Given the description of an element on the screen output the (x, y) to click on. 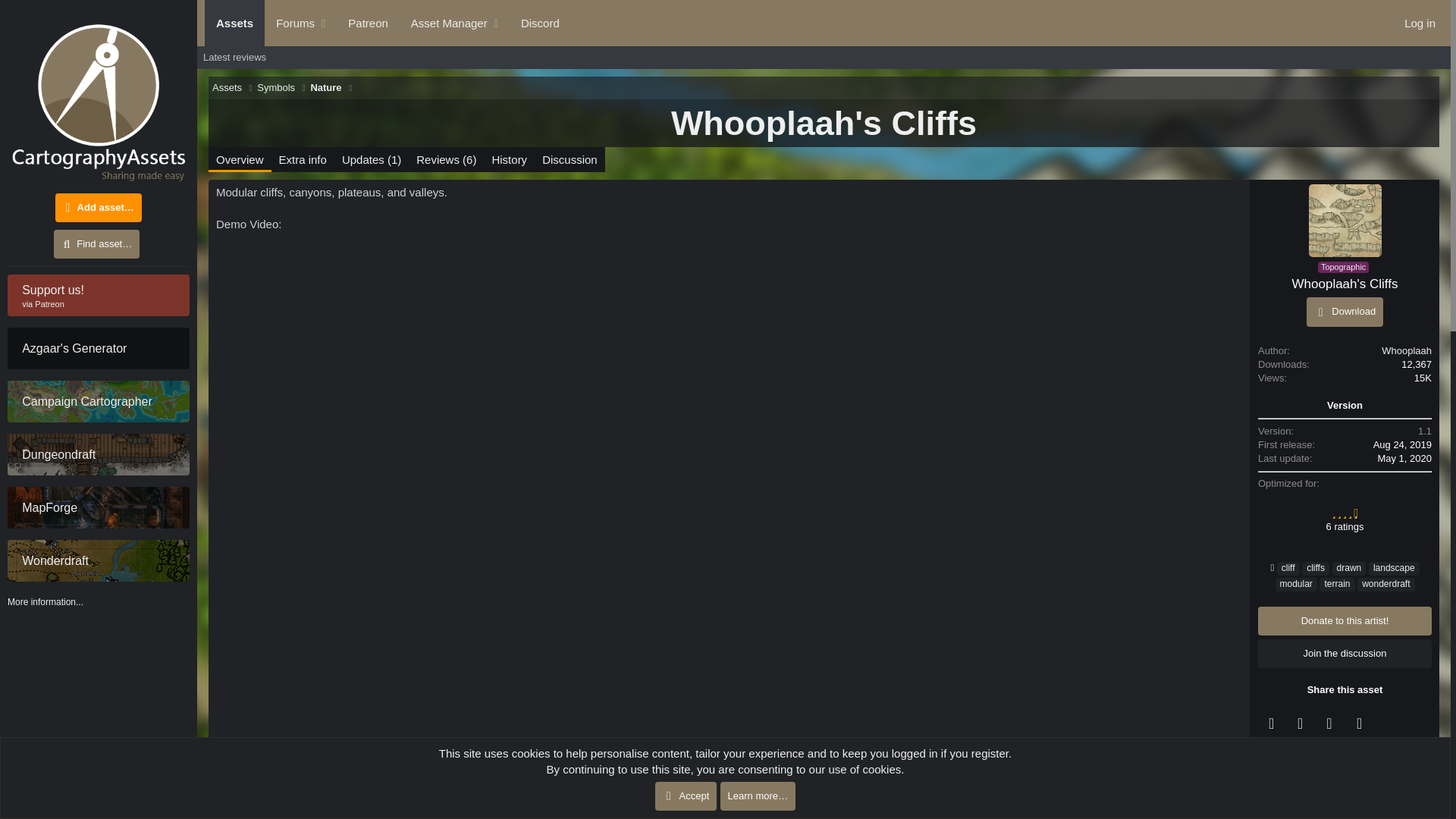
More information... (44, 602)
Log in (1419, 22)
Dungeondraft (98, 454)
Wonderdraft (98, 560)
May 1, 2020 at 12:16 AM (387, 22)
Patreon (1404, 458)
Discord (367, 22)
Symbols (98, 295)
Azgaar's Generator (539, 22)
Latest reviews (276, 87)
Campaign Cartographer (98, 348)
Aug 24, 2019 at 7:10 PM (234, 56)
Overview (98, 401)
